Given the description of an element on the screen output the (x, y) to click on. 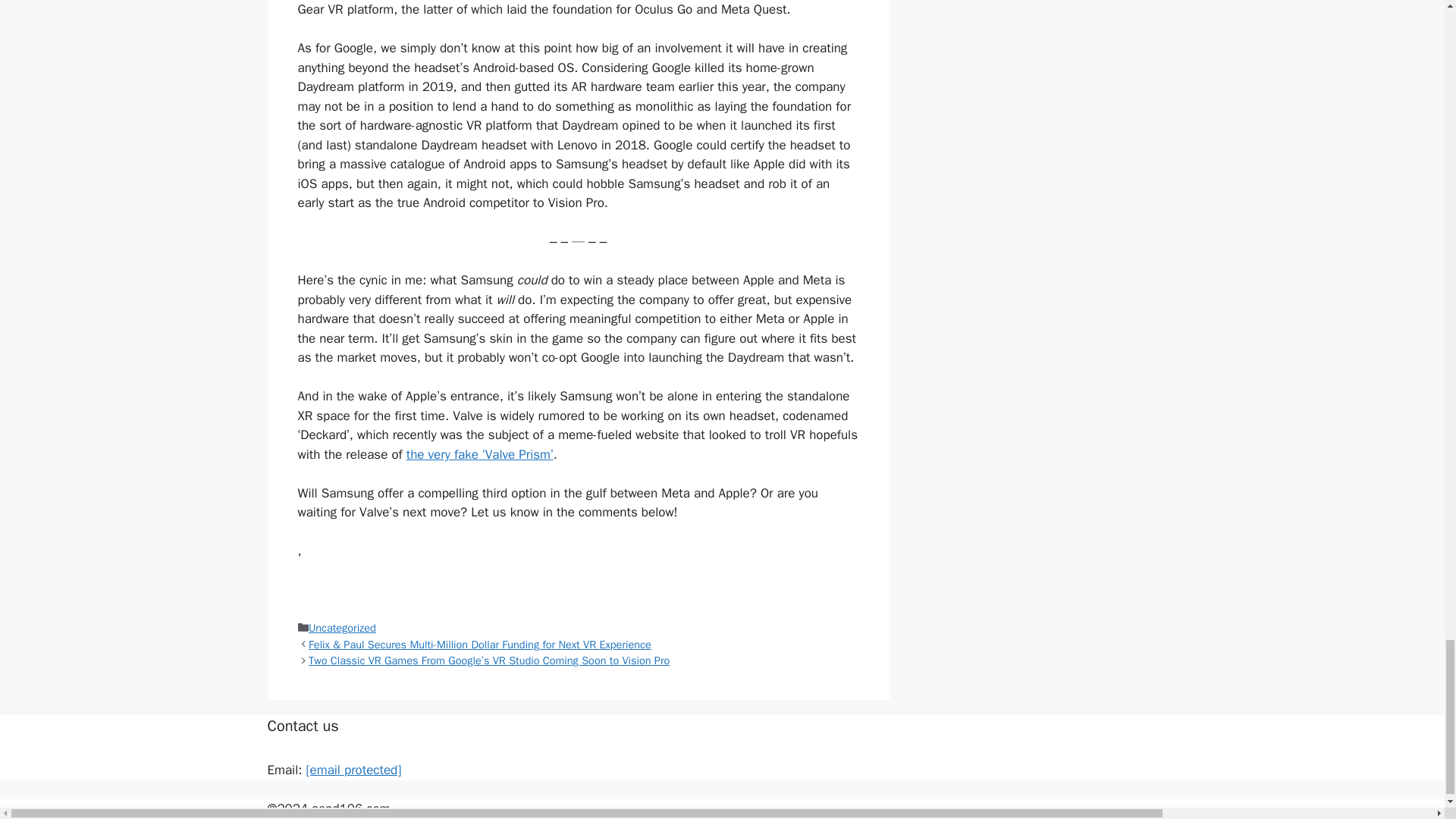
Uncategorized (341, 627)
